Given the description of an element on the screen output the (x, y) to click on. 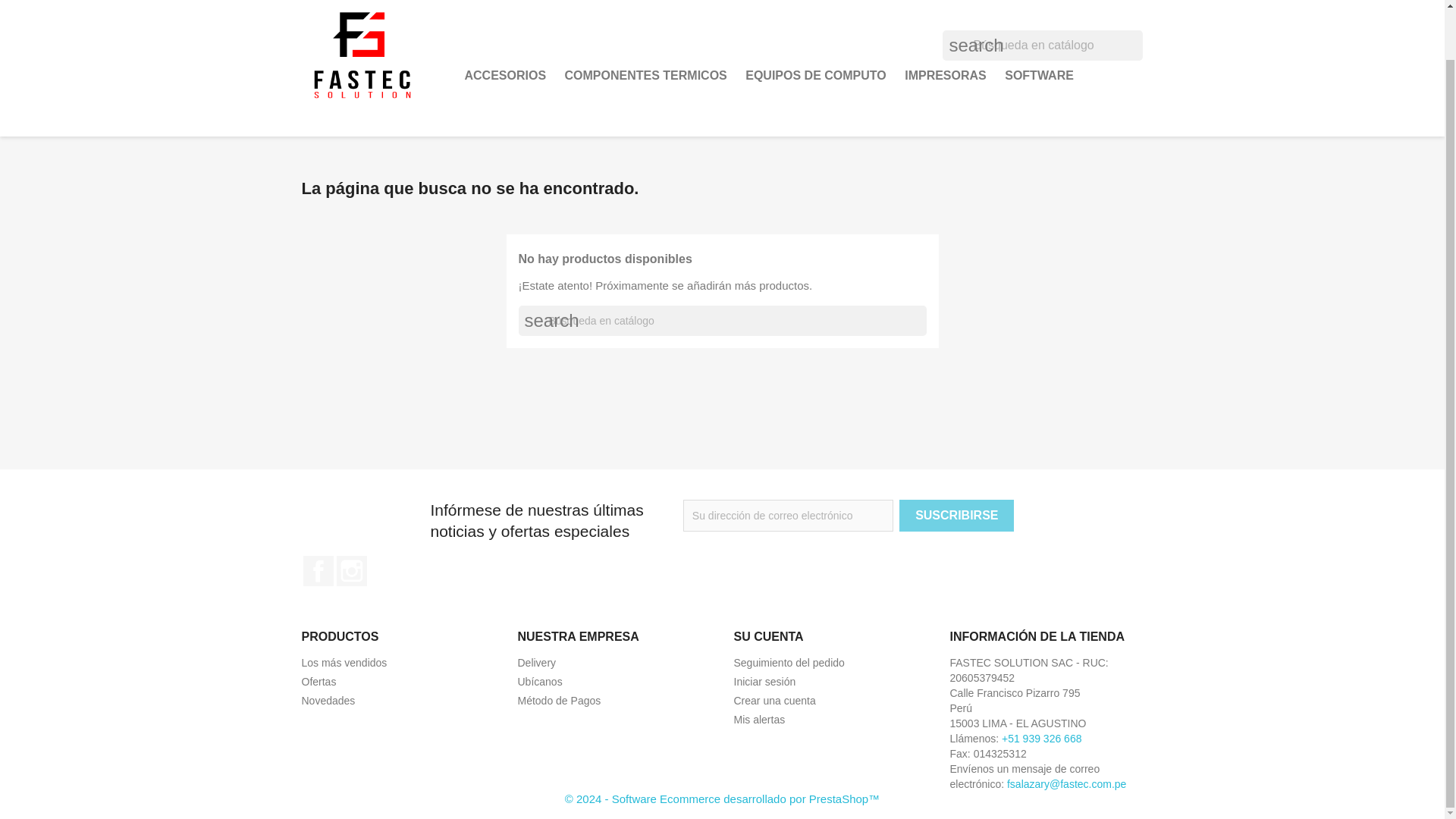
Acceda a su cuenta de cliente (764, 681)
Nuestros productos especiales (318, 681)
IMPRESORAS (945, 75)
Seguimiento del pedido (788, 662)
COMPONENTES TERMICOS (646, 75)
Instagram (351, 571)
Suscribirse (956, 515)
Crear una cuenta (774, 700)
Novedades (328, 700)
Mis alertas (759, 719)
Delivery (536, 662)
EQUIPOS DE COMPUTO (815, 75)
SOFTWARE (1039, 75)
Ofertas (318, 681)
Facebook (317, 571)
